Given the description of an element on the screen output the (x, y) to click on. 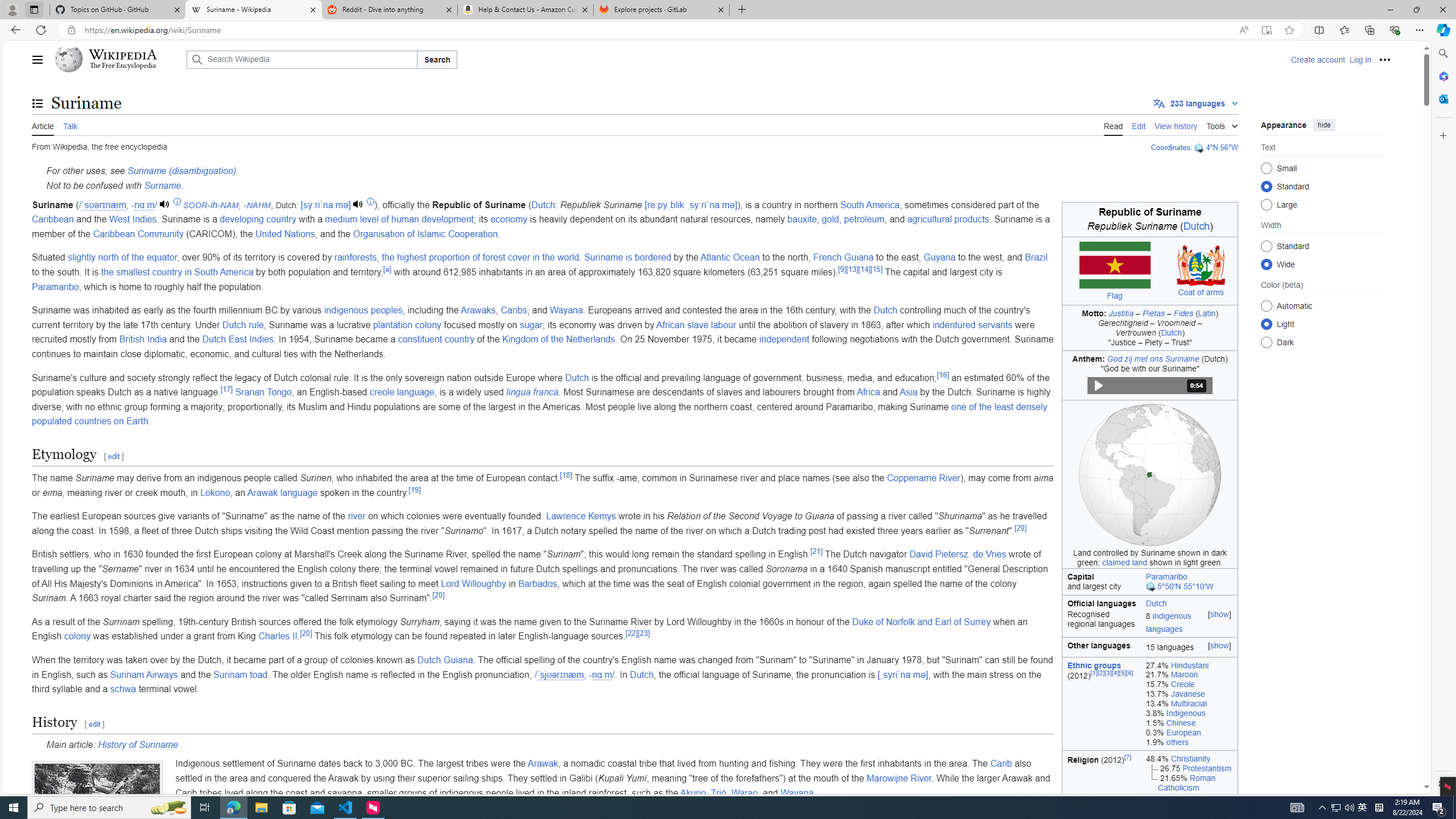
[2] (1101, 672)
edit (94, 723)
Latin (1206, 312)
Lord Willoughby (473, 583)
Other languages (1101, 647)
Dutch (640, 674)
